Given the description of an element on the screen output the (x, y) to click on. 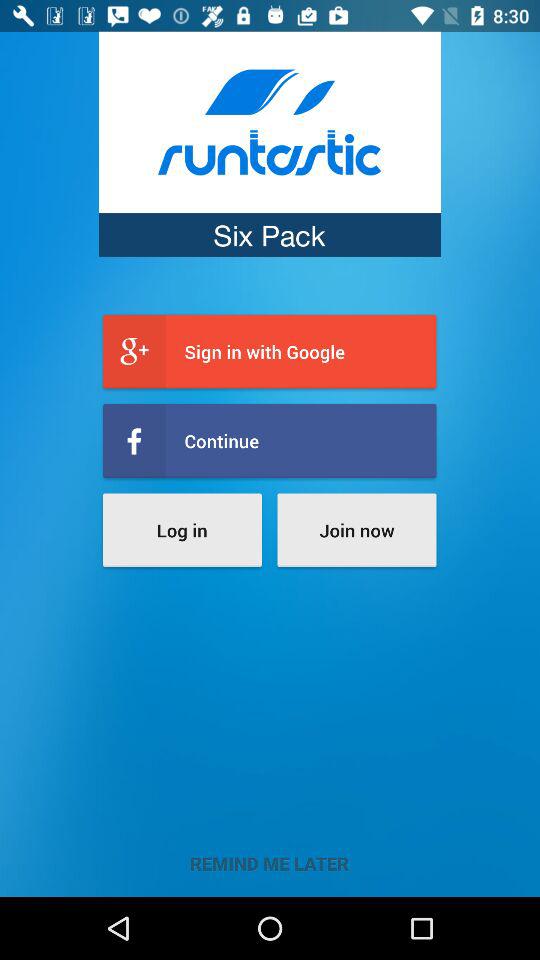
select icon to the right of log in icon (356, 529)
